Given the description of an element on the screen output the (x, y) to click on. 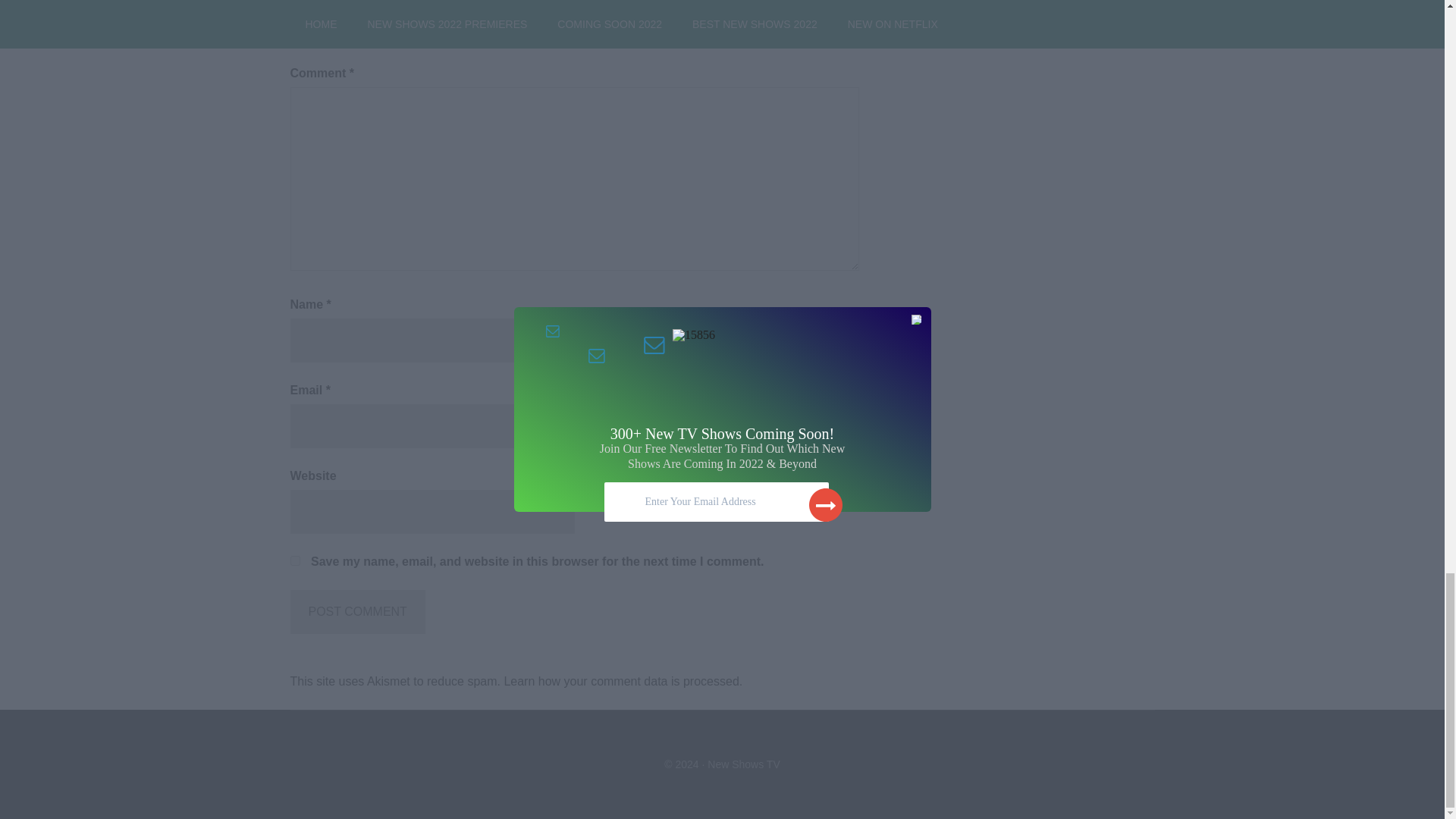
Post Comment (357, 611)
yes (294, 560)
Learn how your comment data is processed (620, 680)
Post Comment (357, 611)
